Given the description of an element on the screen output the (x, y) to click on. 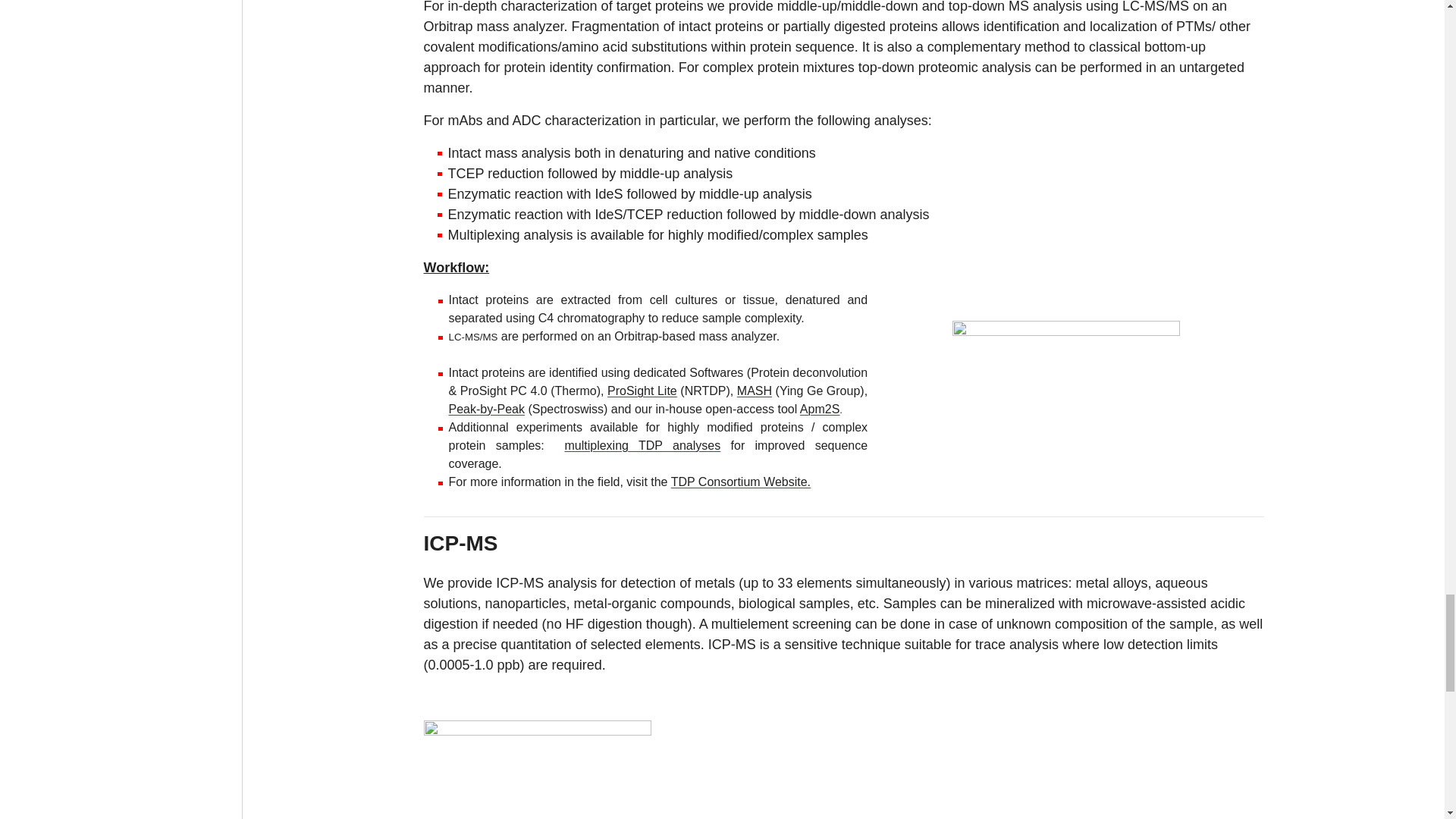
ProSight Lite (642, 390)
